Given the description of an element on the screen output the (x, y) to click on. 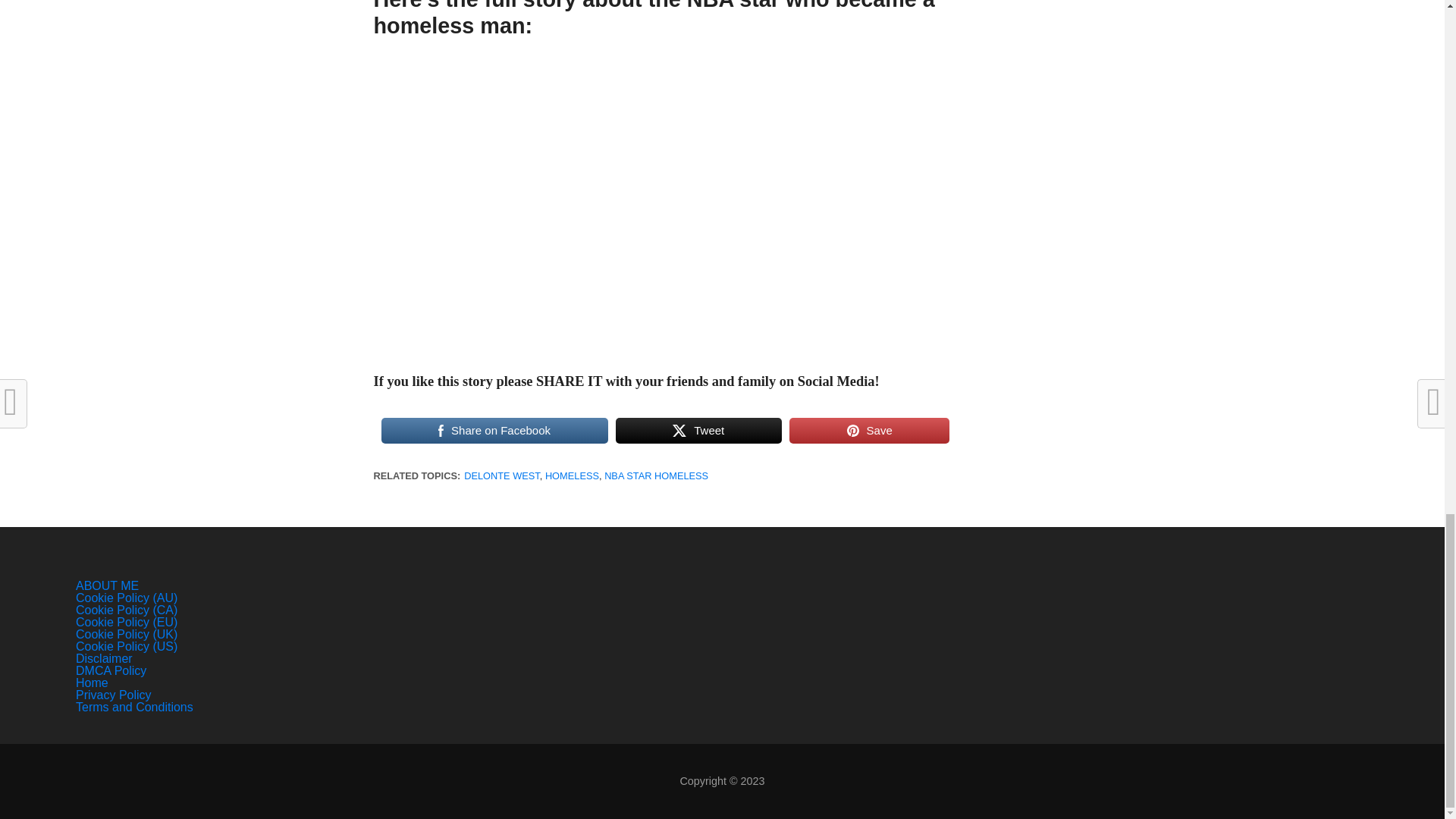
HOMELESS (571, 475)
NBA STAR HOMELESS (655, 475)
Save (869, 430)
DELONTE WEST (502, 475)
Share on Facebook (493, 430)
Tweet (698, 430)
ABOUT ME (106, 585)
